Given the description of an element on the screen output the (x, y) to click on. 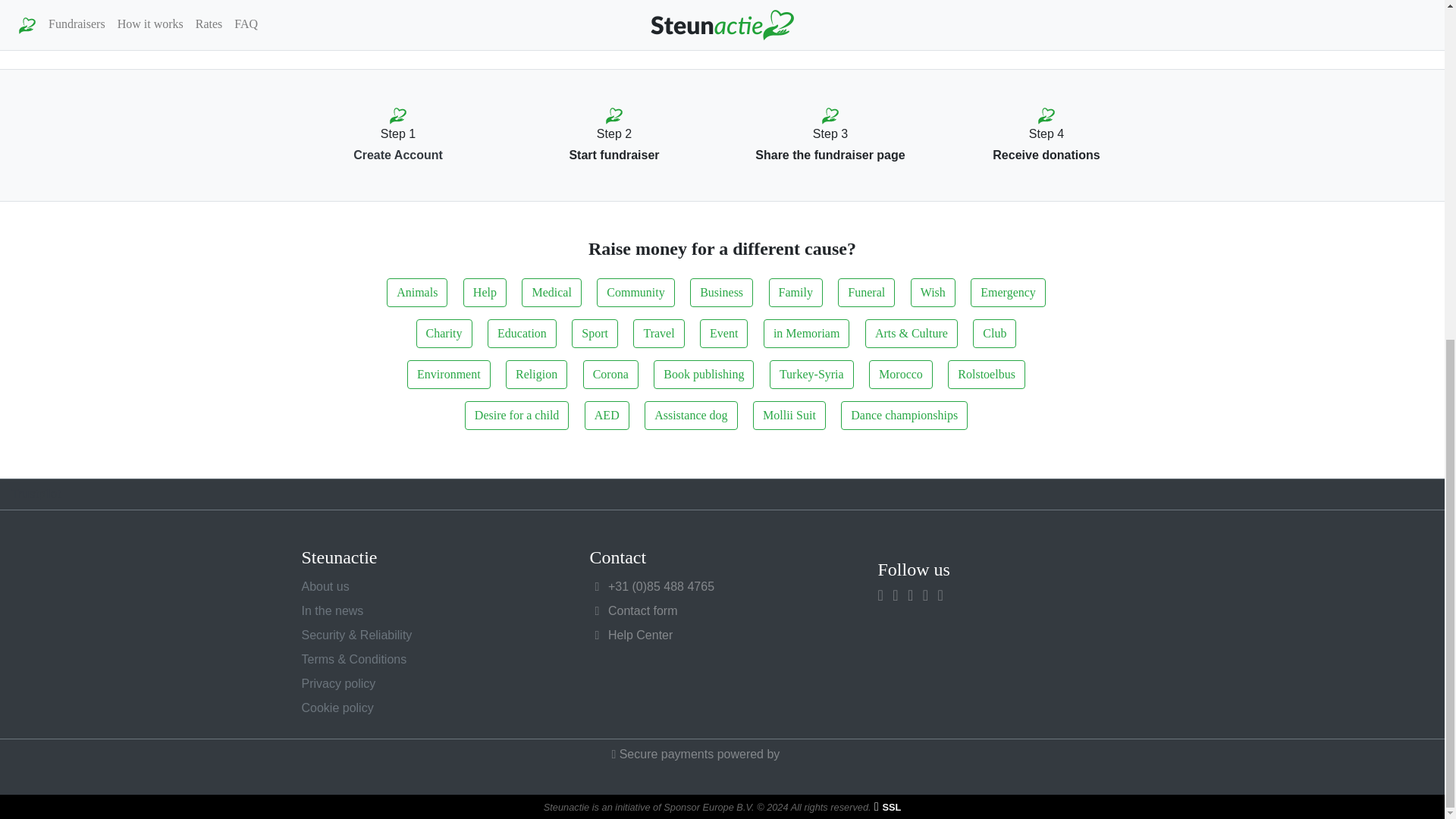
Business (721, 292)
Medical (550, 292)
Funeral (866, 292)
Corona (611, 374)
Create Account (397, 154)
Religion (536, 374)
Animals (416, 292)
Travel (658, 333)
Charity (443, 333)
Event (724, 333)
Help (484, 292)
Education (521, 333)
Create Account (397, 154)
Sport (594, 333)
Animals (416, 292)
